Given the description of an element on the screen output the (x, y) to click on. 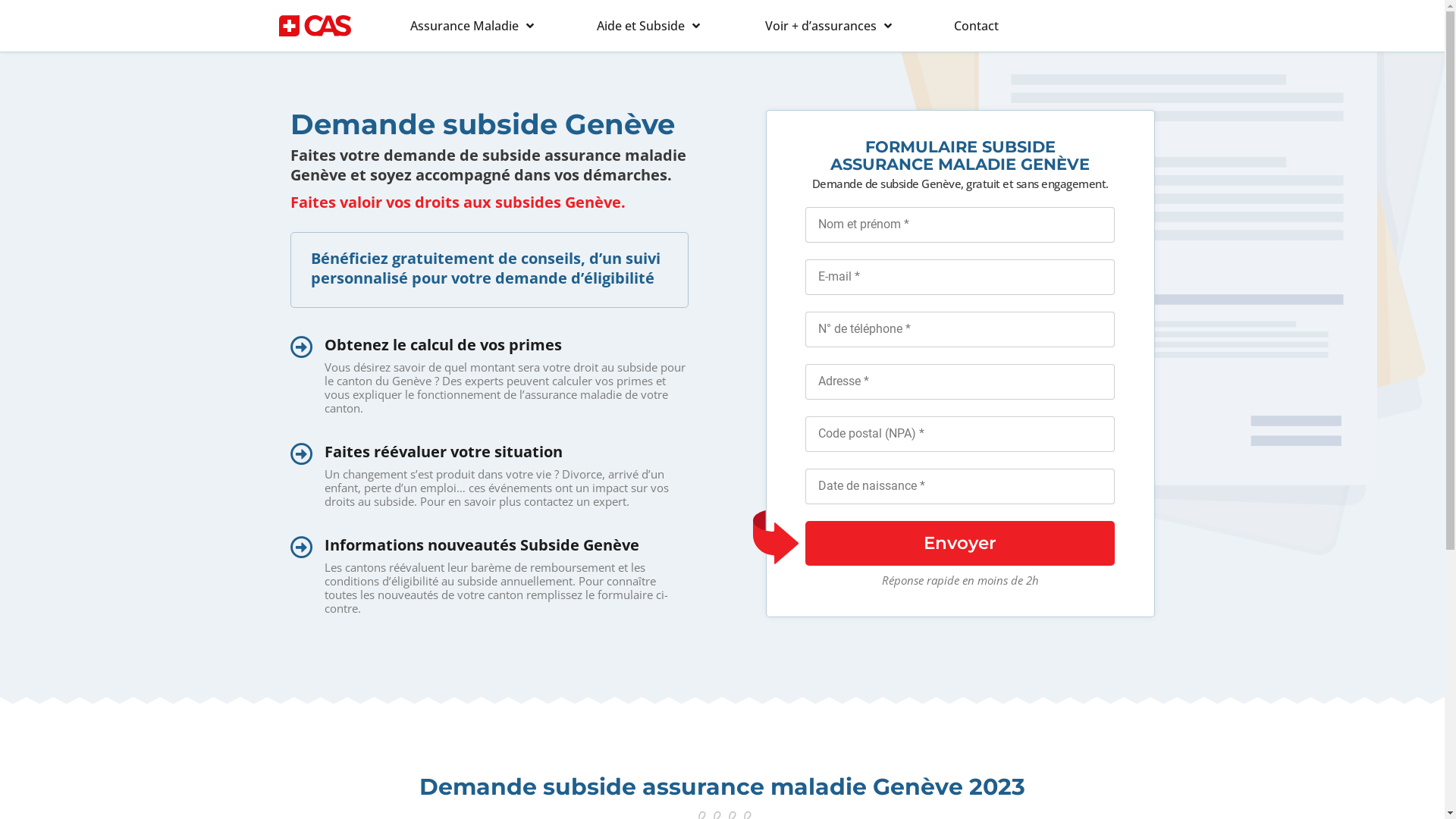
Assurance Maladie Element type: text (471, 25)
Envoyer Element type: text (960, 542)
Contact Element type: text (976, 25)
Aide et Subside Element type: text (647, 25)
